Given the description of an element on the screen output the (x, y) to click on. 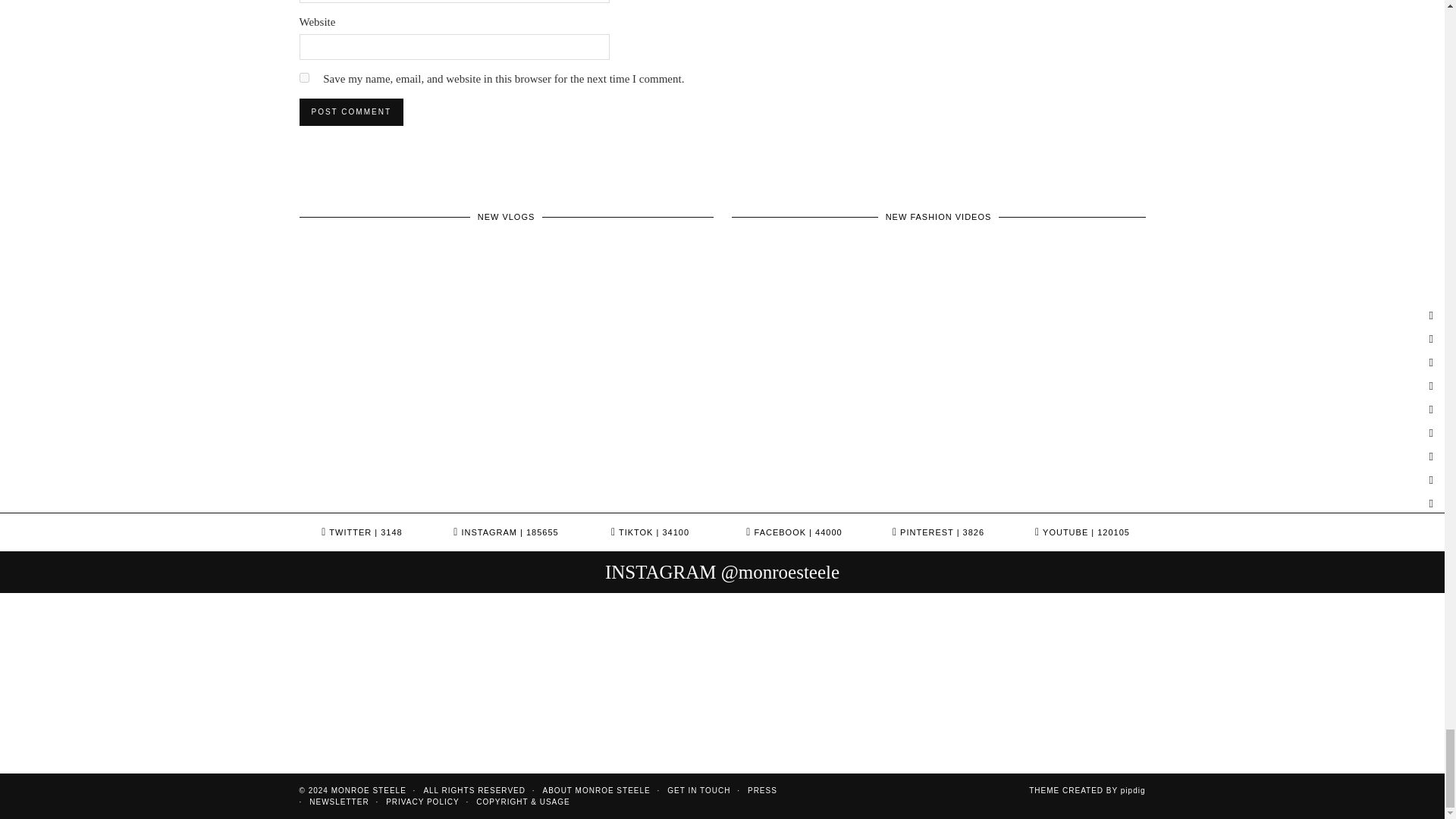
Post Comment (350, 112)
yes (303, 77)
